Given the description of an element on the screen output the (x, y) to click on. 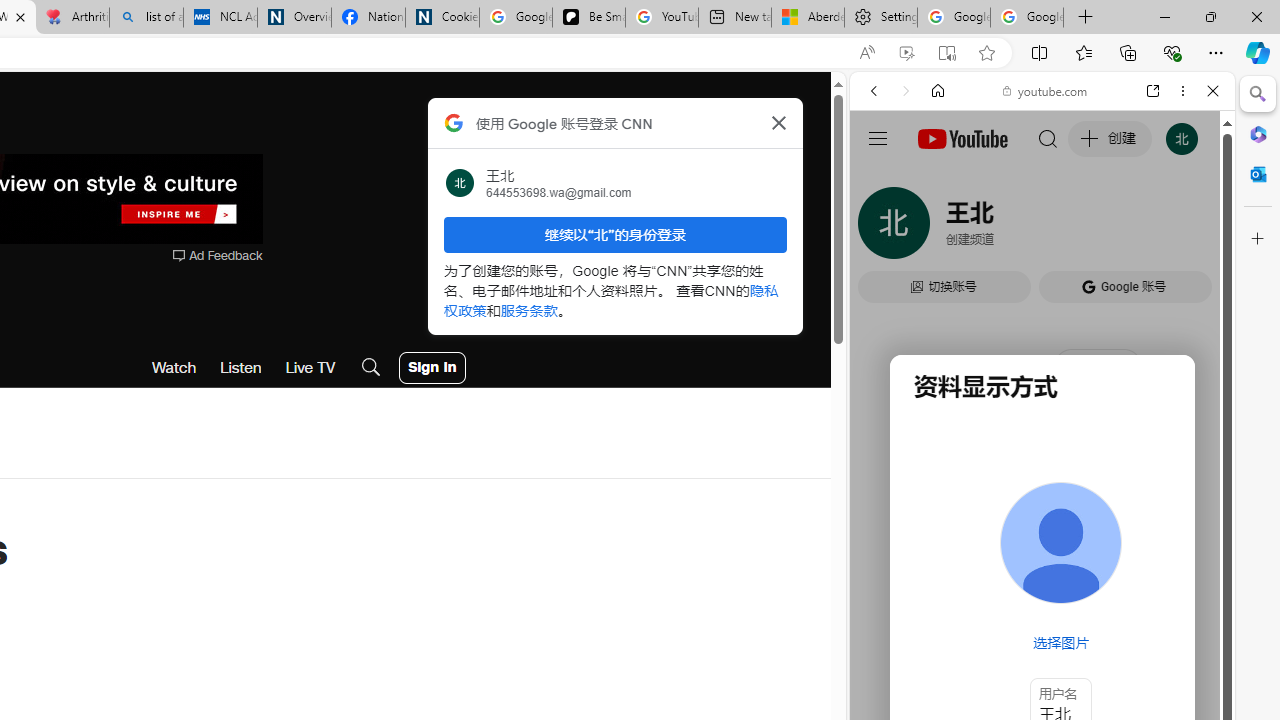
Music (1042, 543)
Search videos from youtube.com (1005, 657)
Trailer #2 [HD] (1042, 594)
Listen (241, 367)
